Given the description of an element on the screen output the (x, y) to click on. 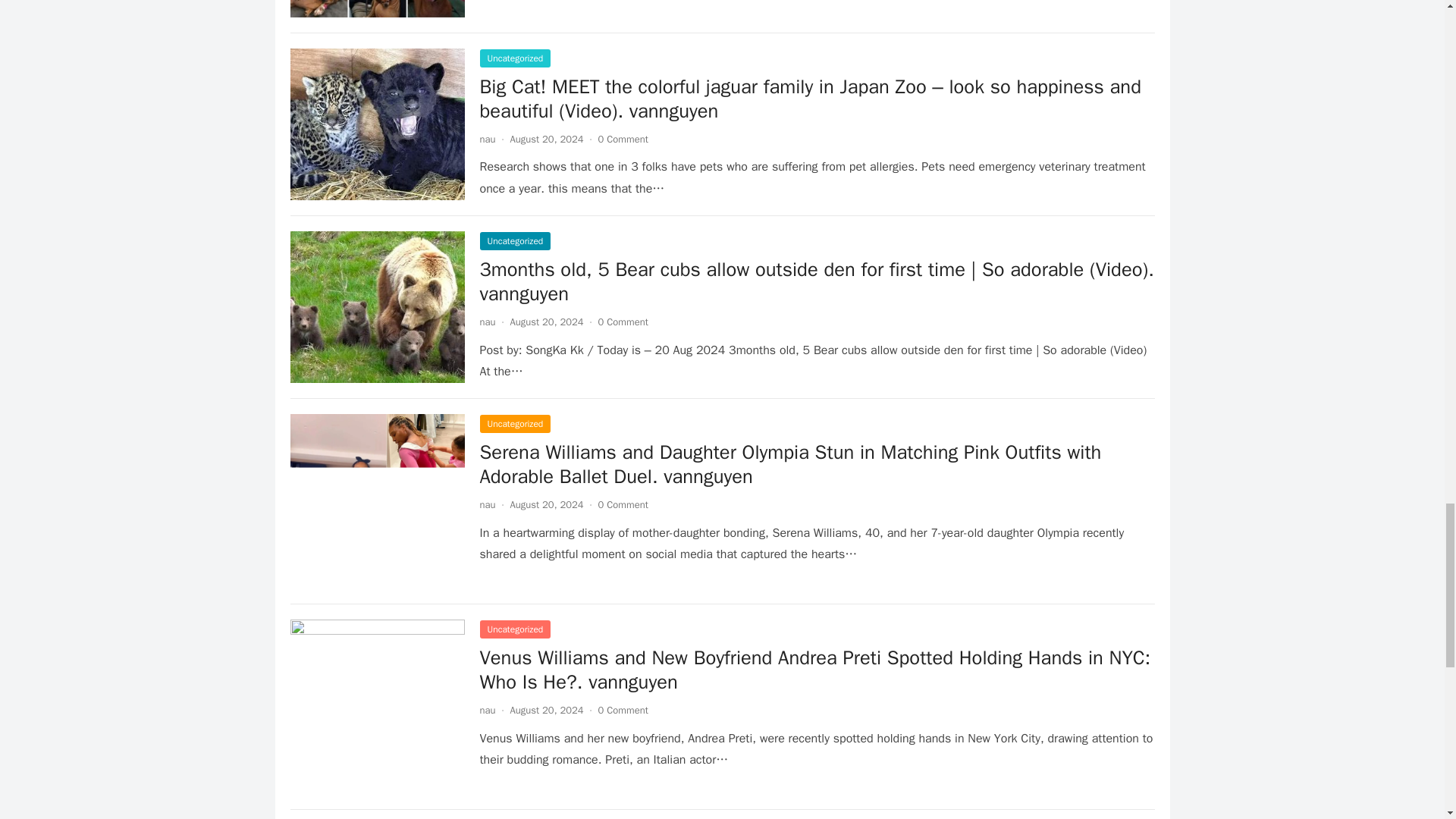
Uncategorized (514, 58)
Uncategorized (514, 240)
Uncategorized (514, 423)
Posts by nau (487, 138)
0 Comment (622, 138)
nau (487, 321)
Posts by nau (487, 321)
Posts by nau (487, 709)
0 Comment (622, 321)
